Given the description of an element on the screen output the (x, y) to click on. 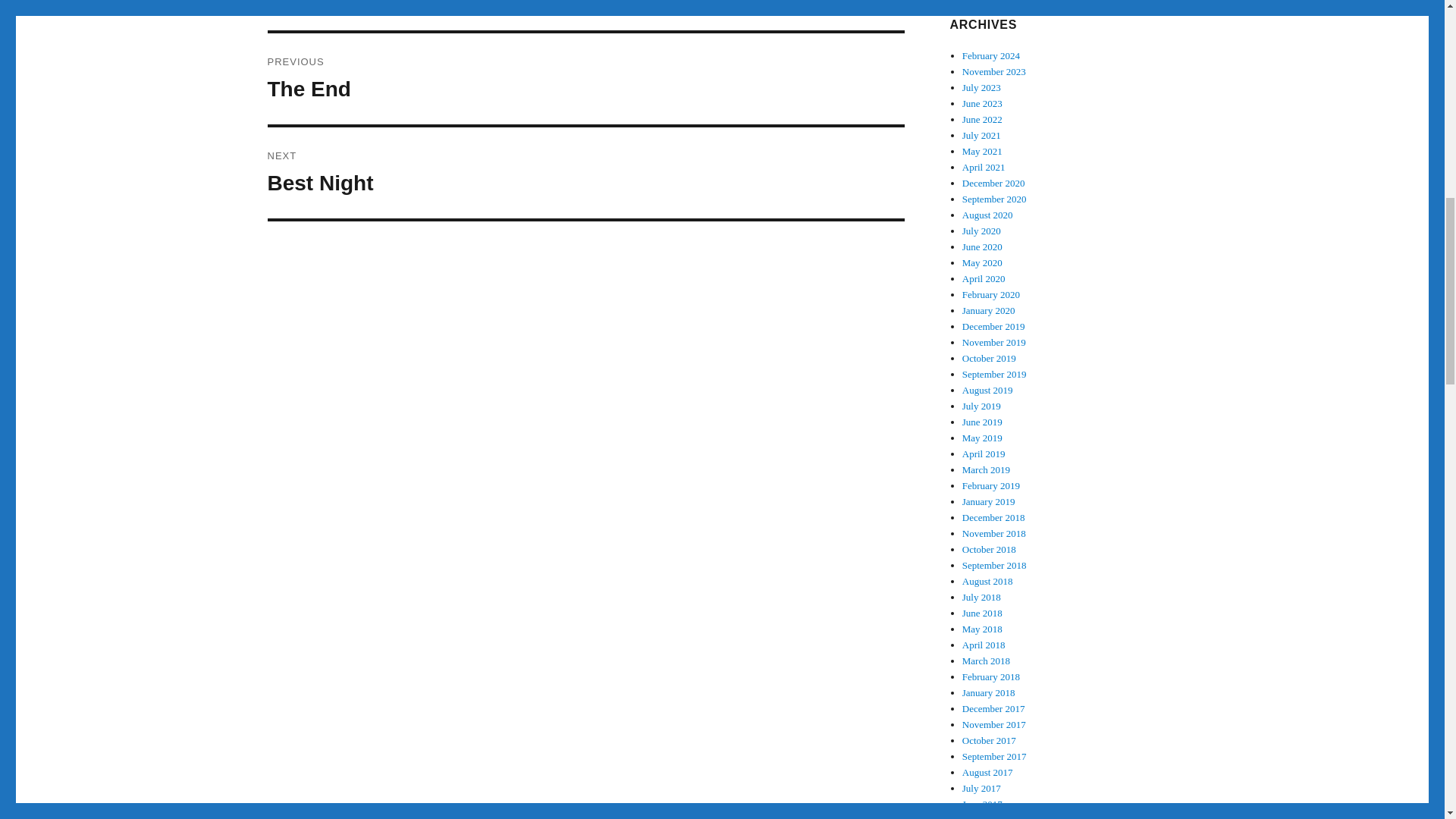
April 2020 (585, 78)
July 2021 (984, 278)
November 2019 (981, 134)
July 2019 (994, 342)
May 2021 (981, 405)
December 2020 (982, 151)
September 2020 (993, 183)
December 2019 (994, 198)
June 2023 (993, 326)
February 2020 (982, 102)
July 2020 (991, 294)
February 2024 (981, 230)
January 2020 (991, 55)
May 2020 (988, 310)
